Given the description of an element on the screen output the (x, y) to click on. 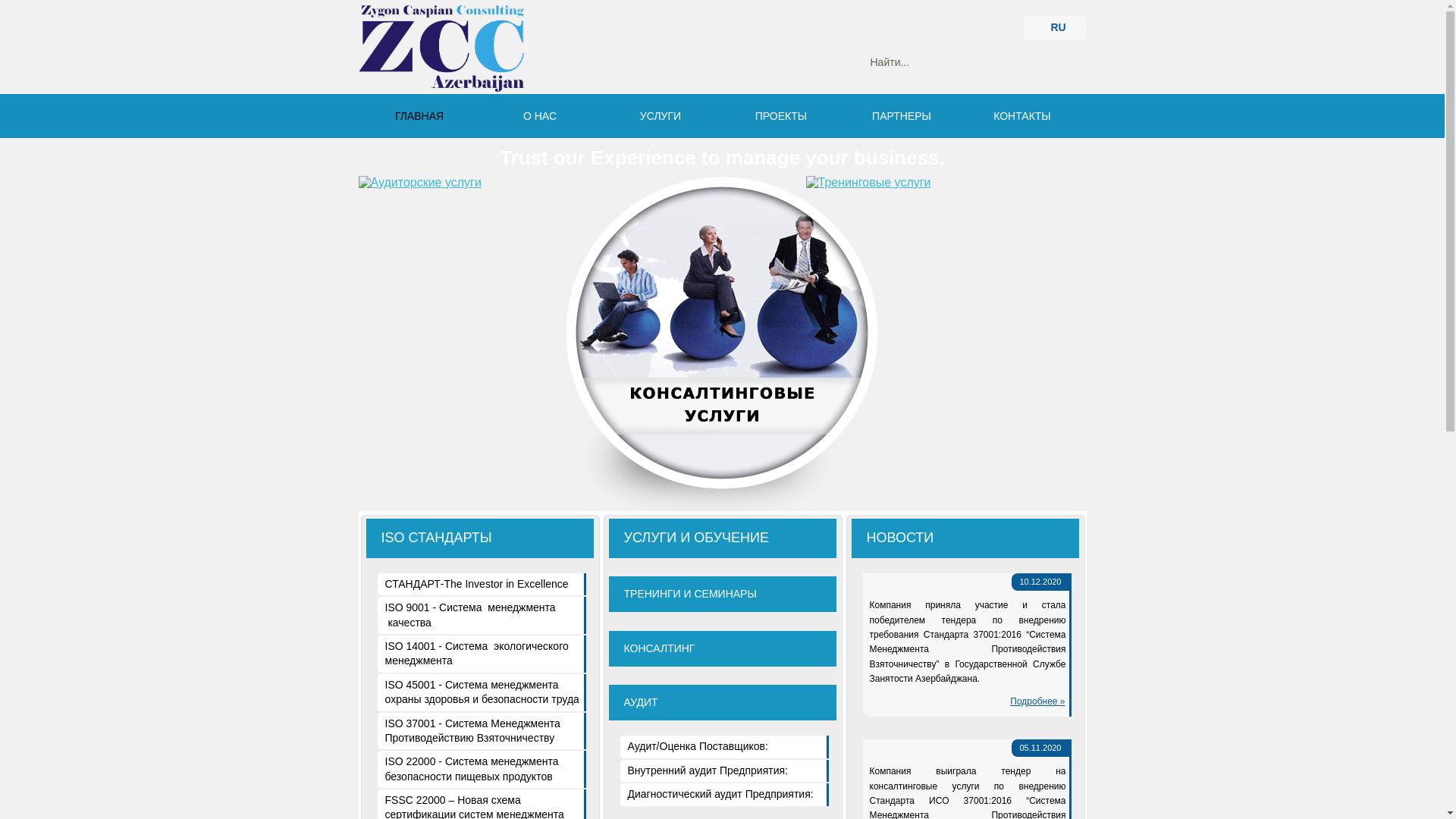
Zygon Caspian Consulting, Azerbaijan Element type: hover (440, 48)
RU Element type: text (1054, 27)
